Given the description of an element on the screen output the (x, y) to click on. 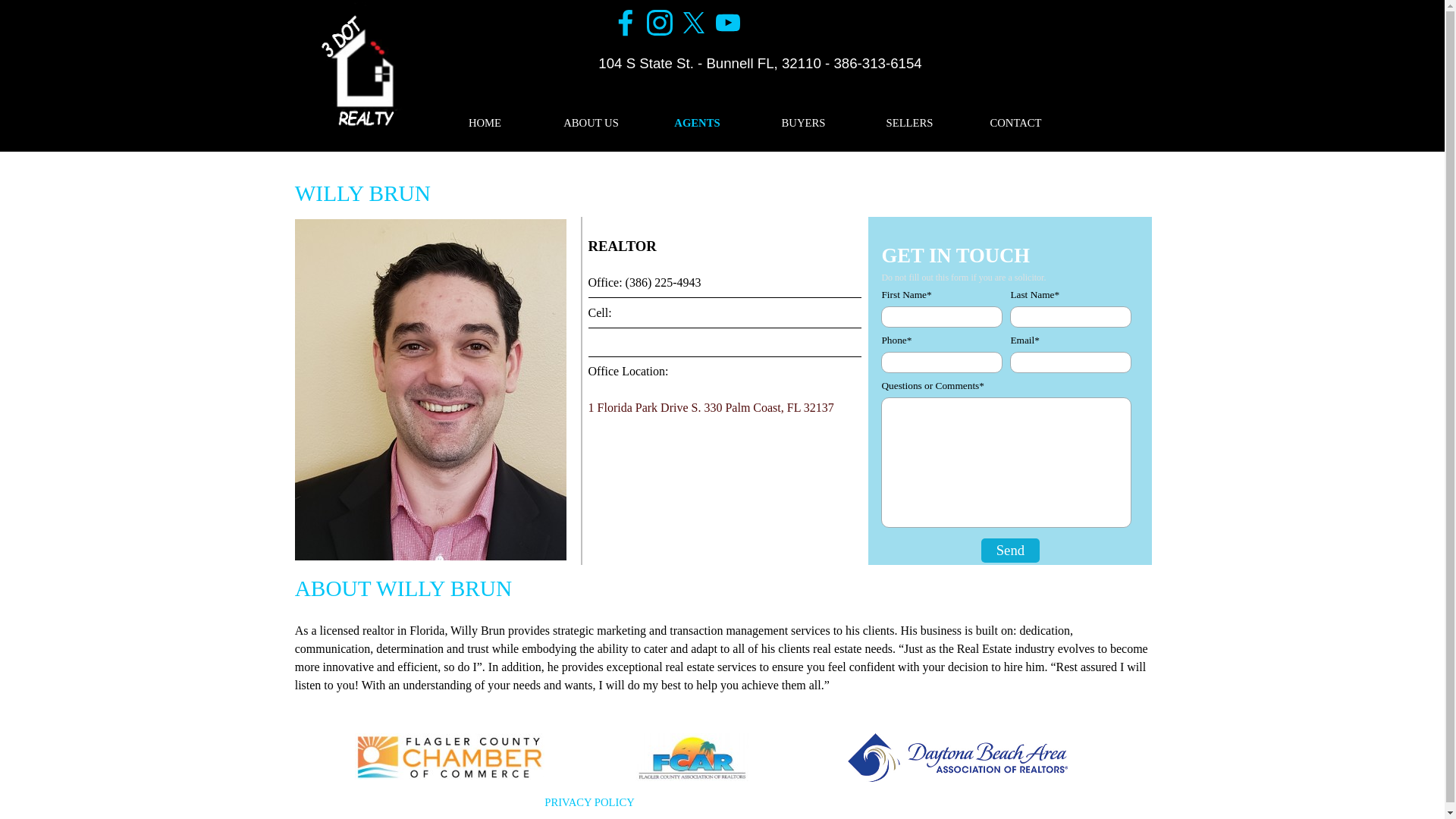
CONTACT Element type: text (1015, 122)
Flagler County Chamber of Commerce Logo Element type: hover (449, 756)
Flagler County Association of Realtors Logo Element type: hover (692, 757)
PRIVACY POLICY Element type: text (589, 802)
Daytona Beach Area Association of Realtors Logo Element type: hover (961, 757)
3 Dot Realty Logo Element type: hover (358, 70)
HOME Element type: text (484, 122)
